Given the description of an element on the screen output the (x, y) to click on. 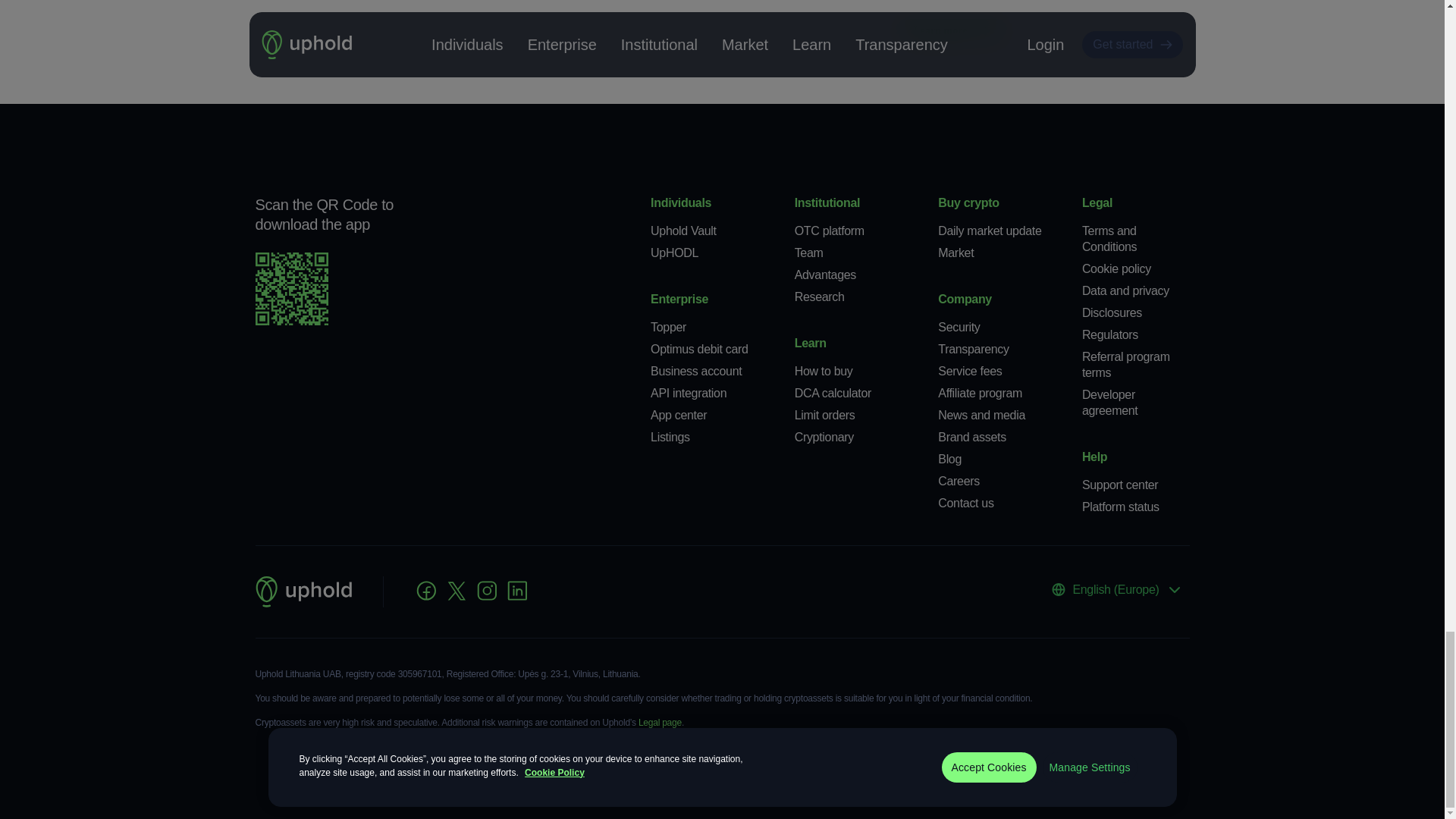
Enterprise (678, 298)
Learn more (951, 30)
API integration (688, 392)
Uphold Vault (683, 230)
App center (678, 414)
UpHODL (674, 252)
Topper (667, 327)
Optimus debit card (699, 349)
Individuals (680, 202)
Business account (695, 370)
